Given the description of an element on the screen output the (x, y) to click on. 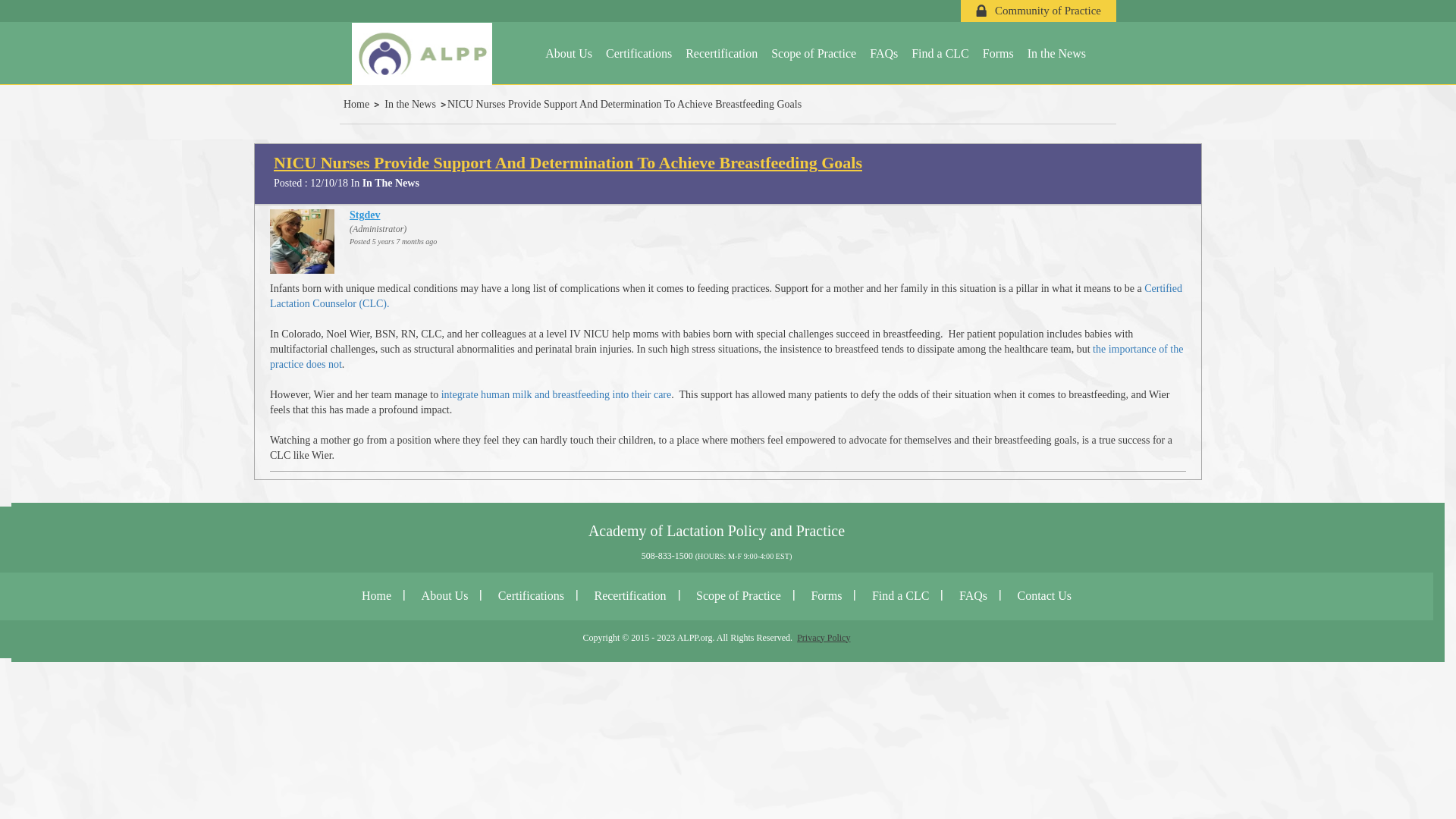
Forms (997, 53)
Certifications (531, 594)
Stgdev (364, 214)
Recertification (629, 594)
In the News (412, 103)
Community of Practice (1037, 10)
Scope of Practice (738, 594)
the importance of the practice does not (725, 356)
Scope of Practice (813, 53)
Forms (826, 594)
About Us (444, 594)
About Us (568, 53)
Certifications (638, 53)
integrate human milk and breastfeeding into their care (556, 394)
Recertification (721, 53)
